Given the description of an element on the screen output the (x, y) to click on. 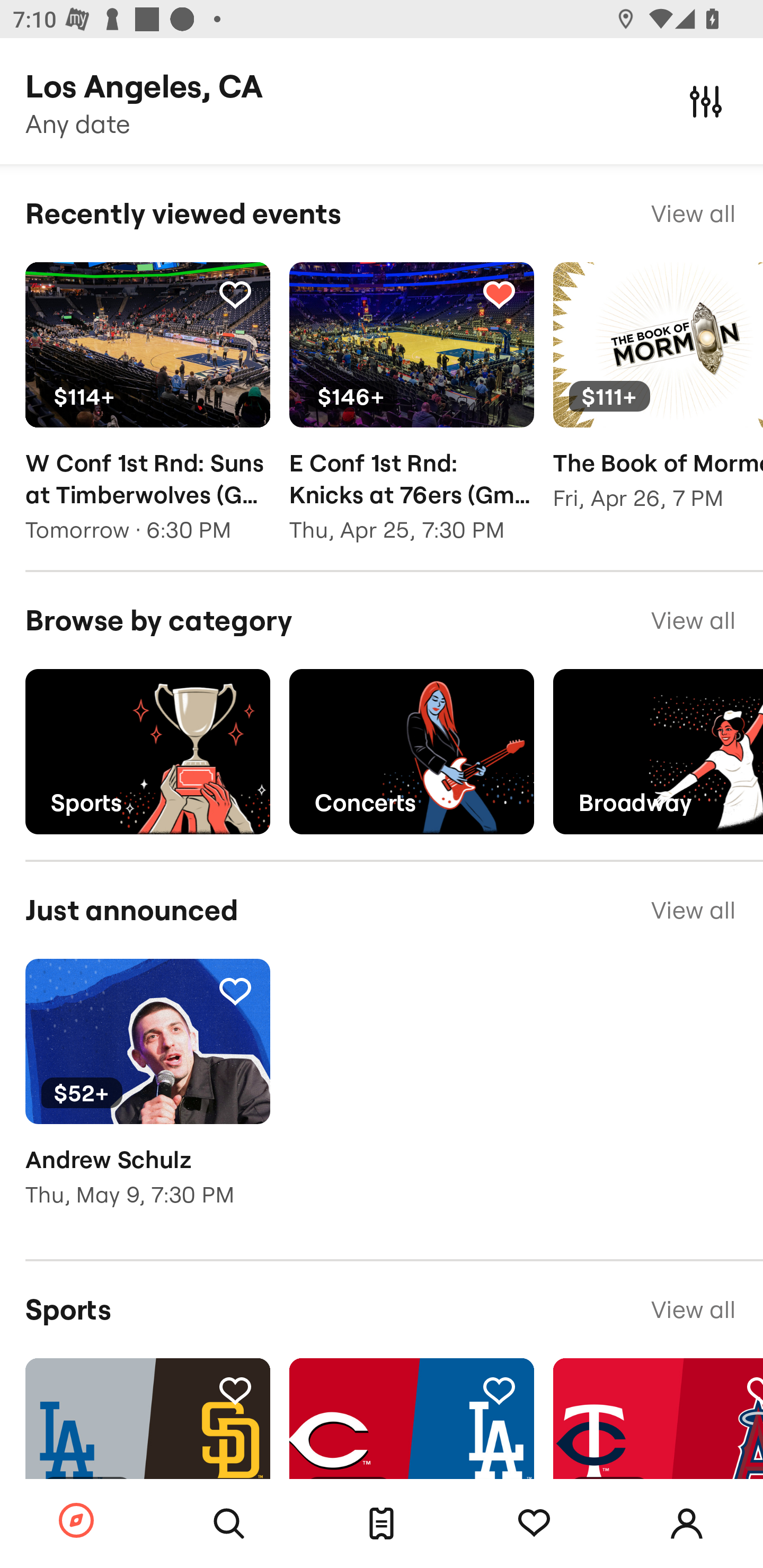
Close (705, 100)
View all (693, 212)
Tracking (234, 293)
Tracking (498, 293)
View all (693, 620)
Sports (147, 751)
Concerts (411, 751)
Broadway (658, 751)
View all (693, 910)
Tracking $52+ Andrew Schulz Thu, May 9, 7:30 PM (147, 1096)
Tracking (234, 990)
View all (693, 1308)
Tracking (234, 1389)
Tracking (498, 1389)
Browse (76, 1521)
Search (228, 1523)
Tickets (381, 1523)
Tracking (533, 1523)
Account (686, 1523)
